Given the description of an element on the screen output the (x, y) to click on. 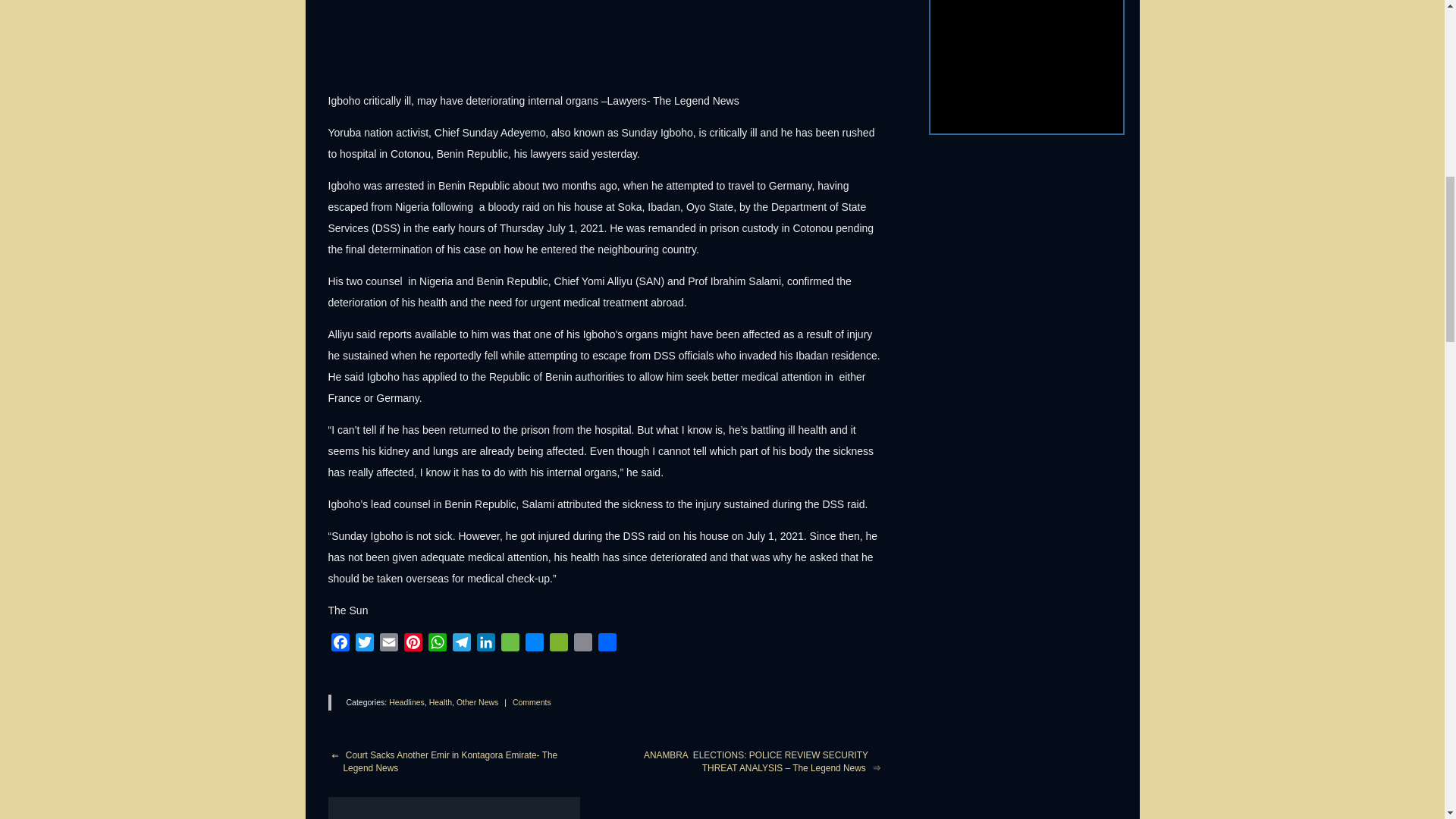
LinkedIn (485, 644)
Facebook (339, 644)
Message (509, 644)
Twitter (363, 644)
WhatsApp (436, 644)
Messenger (533, 644)
Pinterest (412, 644)
Telegram (460, 644)
Email (387, 644)
